Given the description of an element on the screen output the (x, y) to click on. 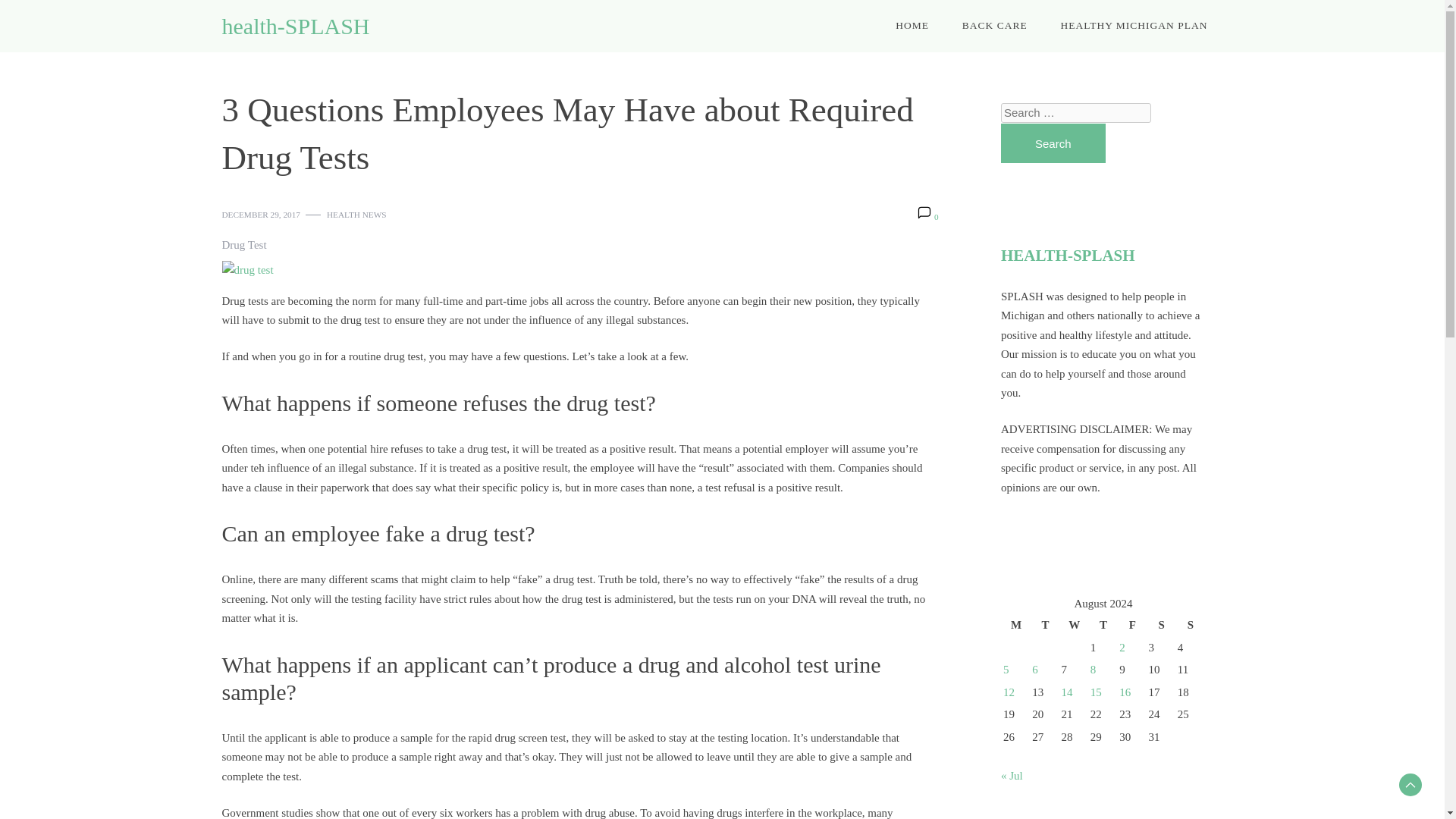
Drug Test (243, 245)
16 (1125, 692)
15 (1096, 692)
health-SPLASH (295, 25)
Sunday (1190, 625)
HEALTH NEWS (356, 214)
Tuesday (1044, 625)
Search (1053, 143)
14 (1067, 692)
12 (1008, 692)
